Given the description of an element on the screen output the (x, y) to click on. 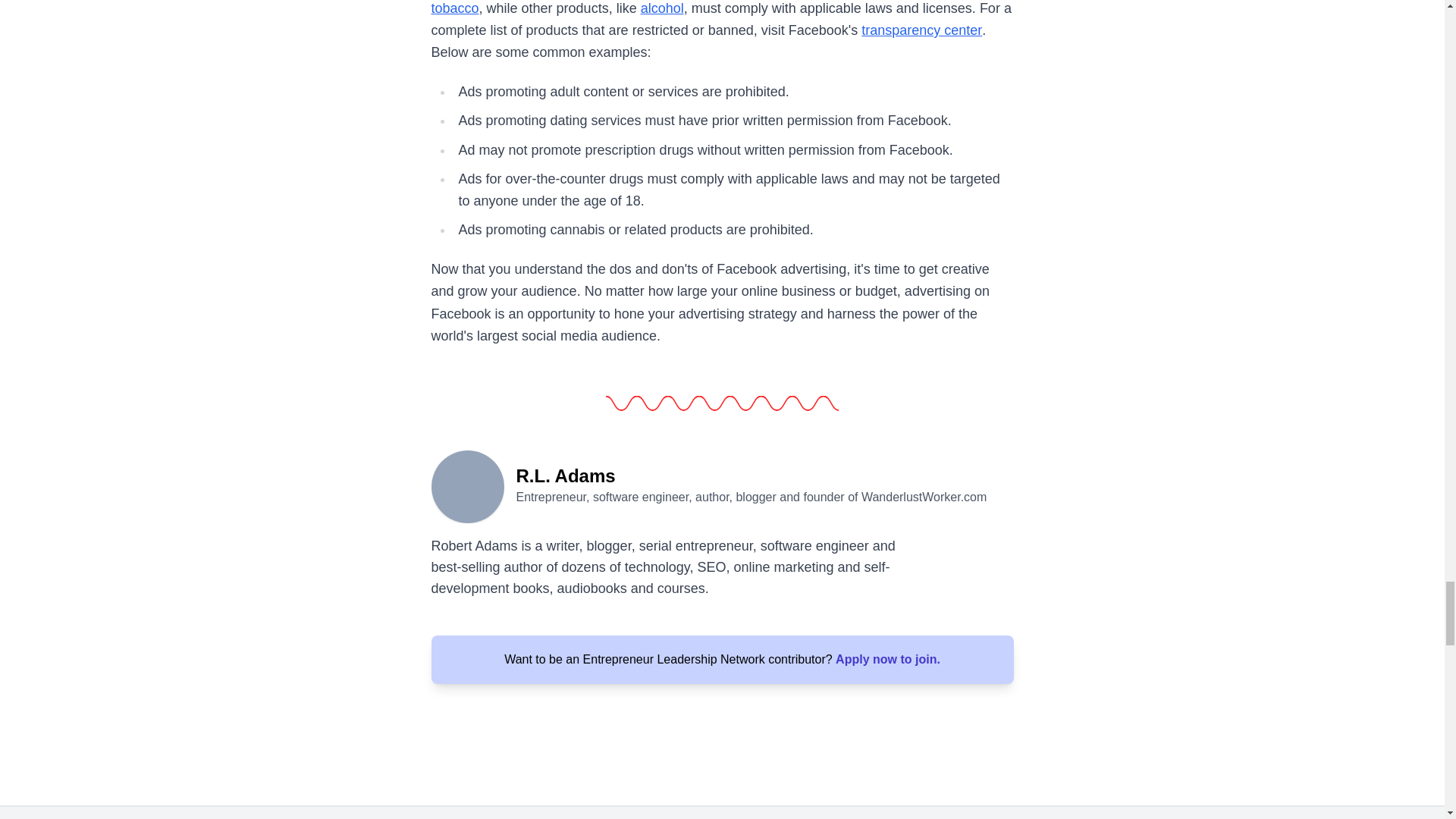
R.L. Adams (466, 485)
